Given the description of an element on the screen output the (x, y) to click on. 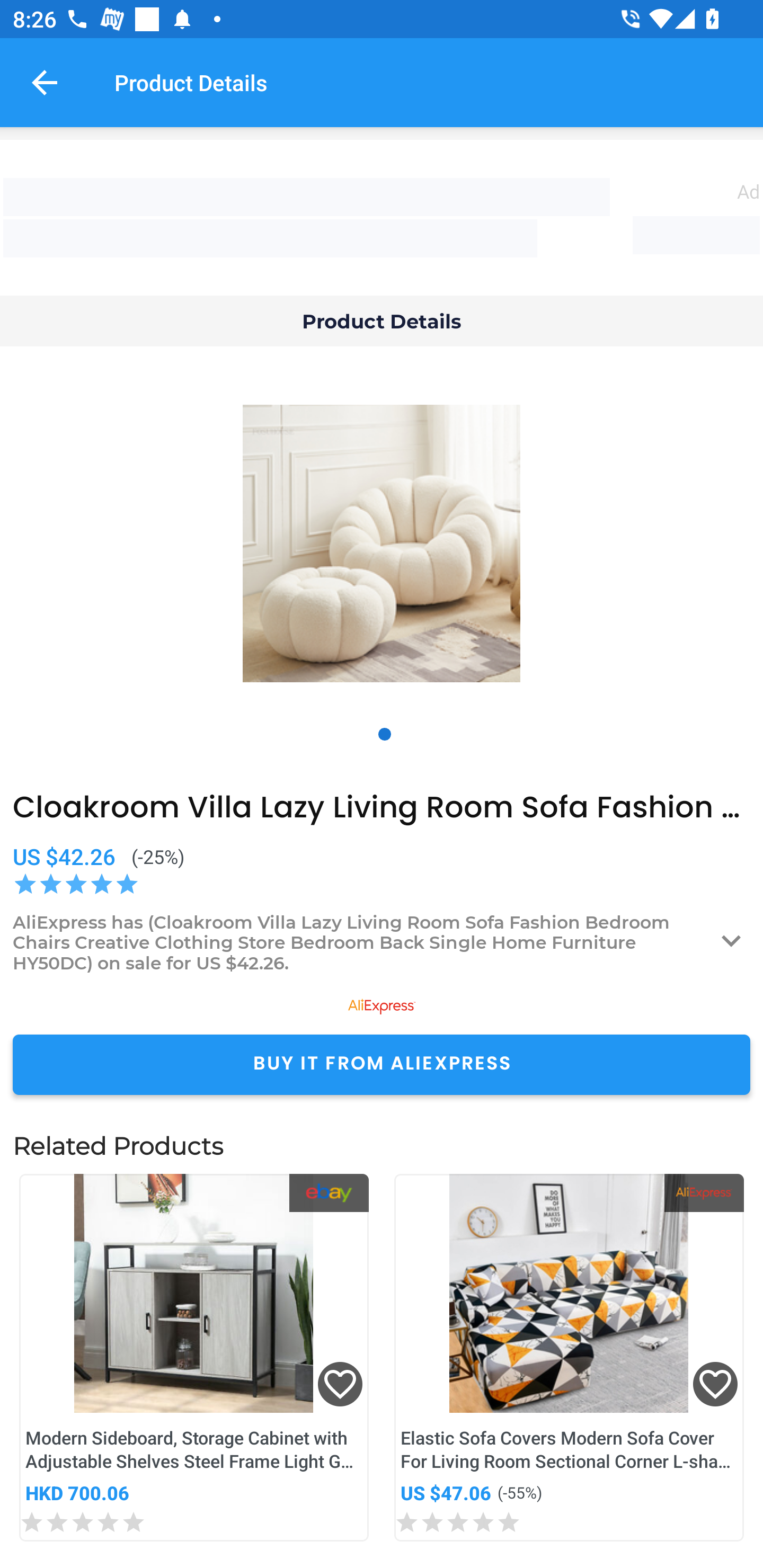
Navigate up (44, 82)
BUY IT FROM ALIEXPRESS (381, 1064)
